Given the description of an element on the screen output the (x, y) to click on. 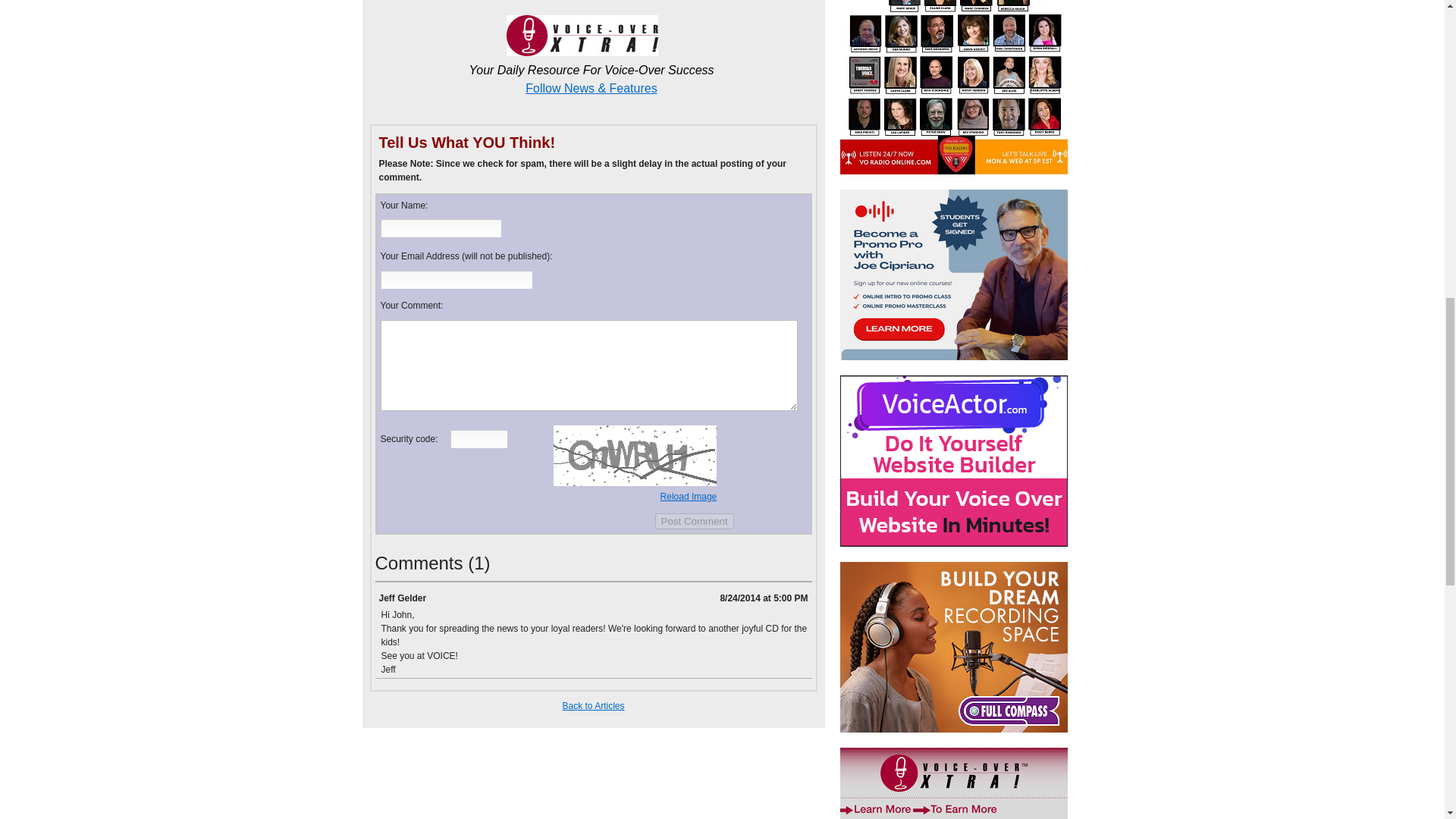
Reload Image (689, 496)
Post Comment (694, 521)
Back to Articles (593, 706)
Post Comment (694, 521)
